Given the description of an element on the screen output the (x, y) to click on. 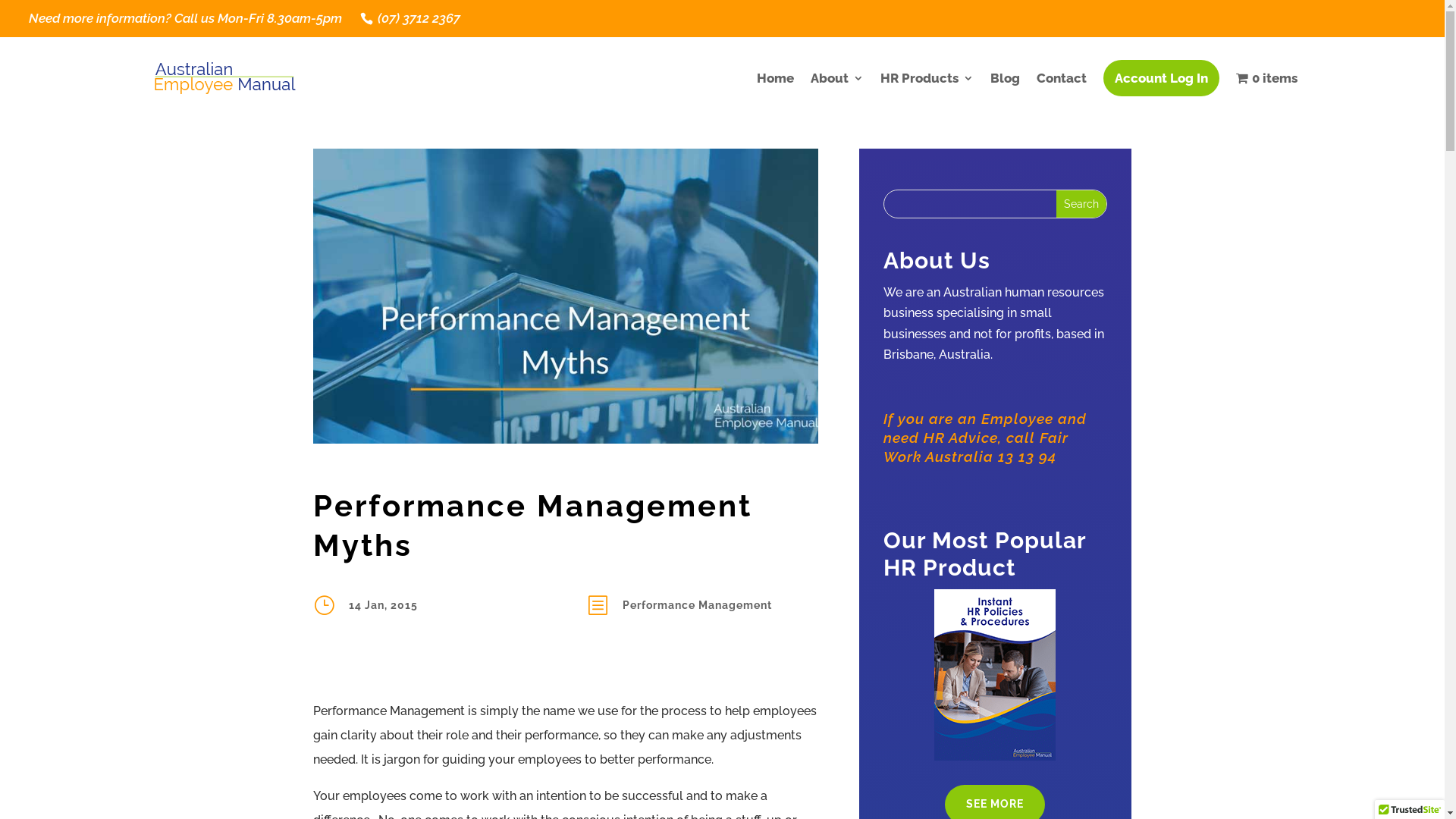
About Element type: text (836, 78)
(07) 3712 2367 Element type: text (417, 17)
Blog Element type: text (1004, 78)
HR Products Element type: text (926, 78)
Performance Management Element type: text (696, 605)
Home Element type: text (774, 78)
Account Log In Element type: text (1161, 78)
Contact Element type: text (1061, 78)
Search Element type: text (1081, 203)
0 items Element type: text (1266, 78)
